Given the description of an element on the screen output the (x, y) to click on. 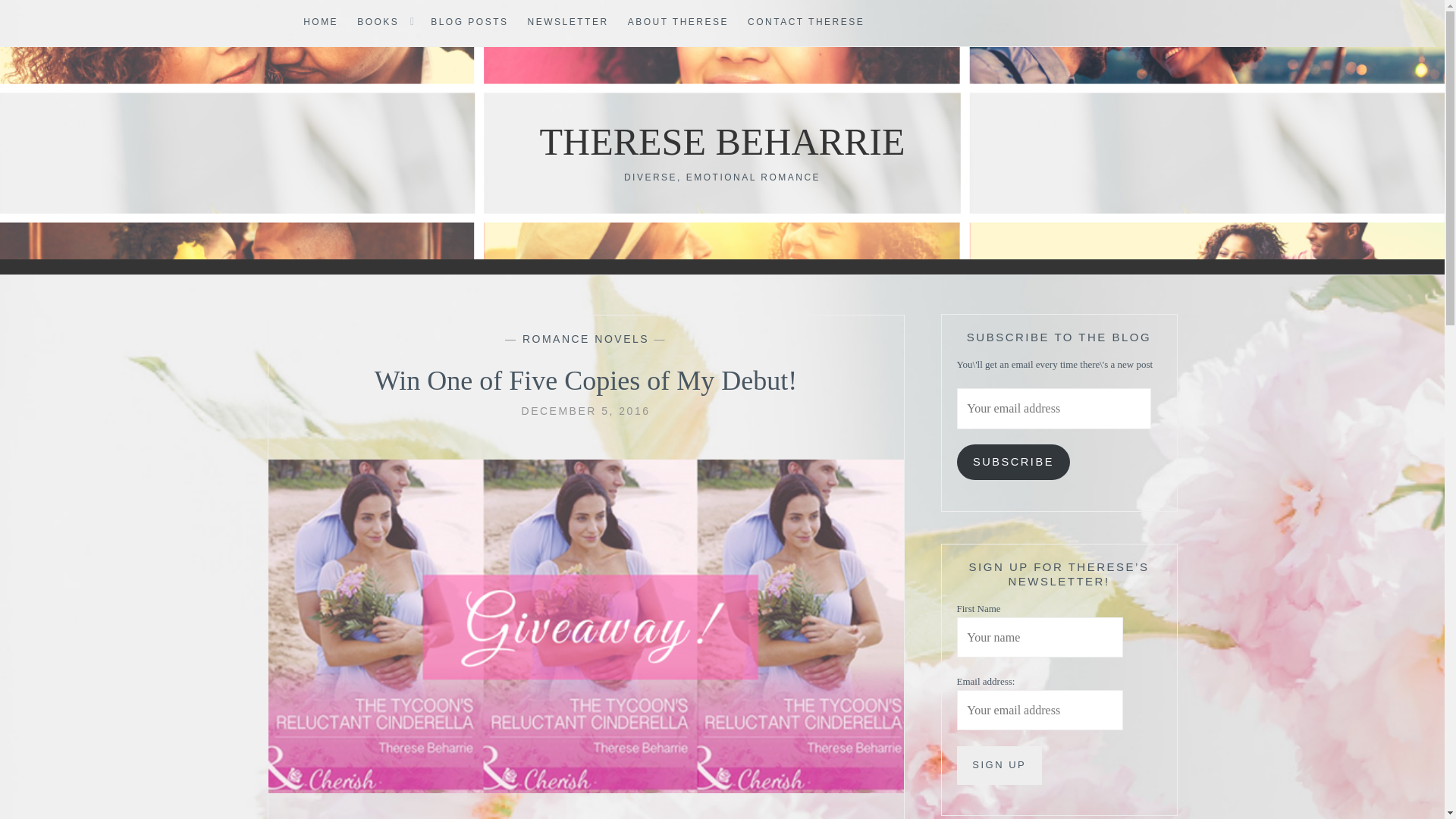
CONTACT THERESE (806, 22)
SUBSCRIBE (1013, 461)
THERESE BEHARRIE (722, 141)
ROMANCE NOVELS (585, 338)
BLOG POSTS (469, 22)
BOOKS (377, 22)
HOME (319, 22)
Sign up (999, 765)
Sign up (999, 765)
ABOUT THERESE (678, 22)
